Given the description of an element on the screen output the (x, y) to click on. 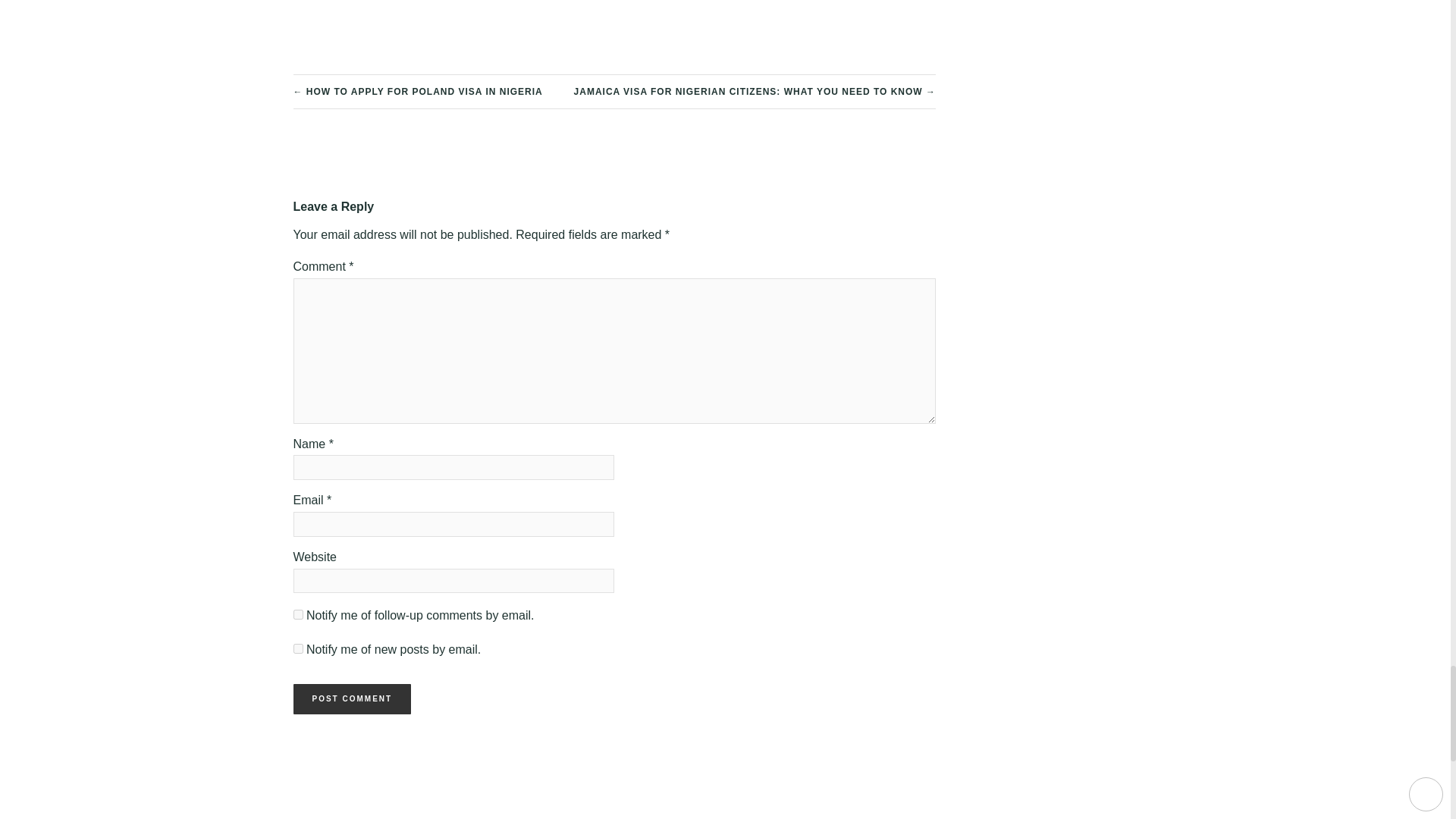
Post Comment (351, 698)
Post Comment (351, 698)
subscribe (297, 614)
subscribe (297, 648)
